Given the description of an element on the screen output the (x, y) to click on. 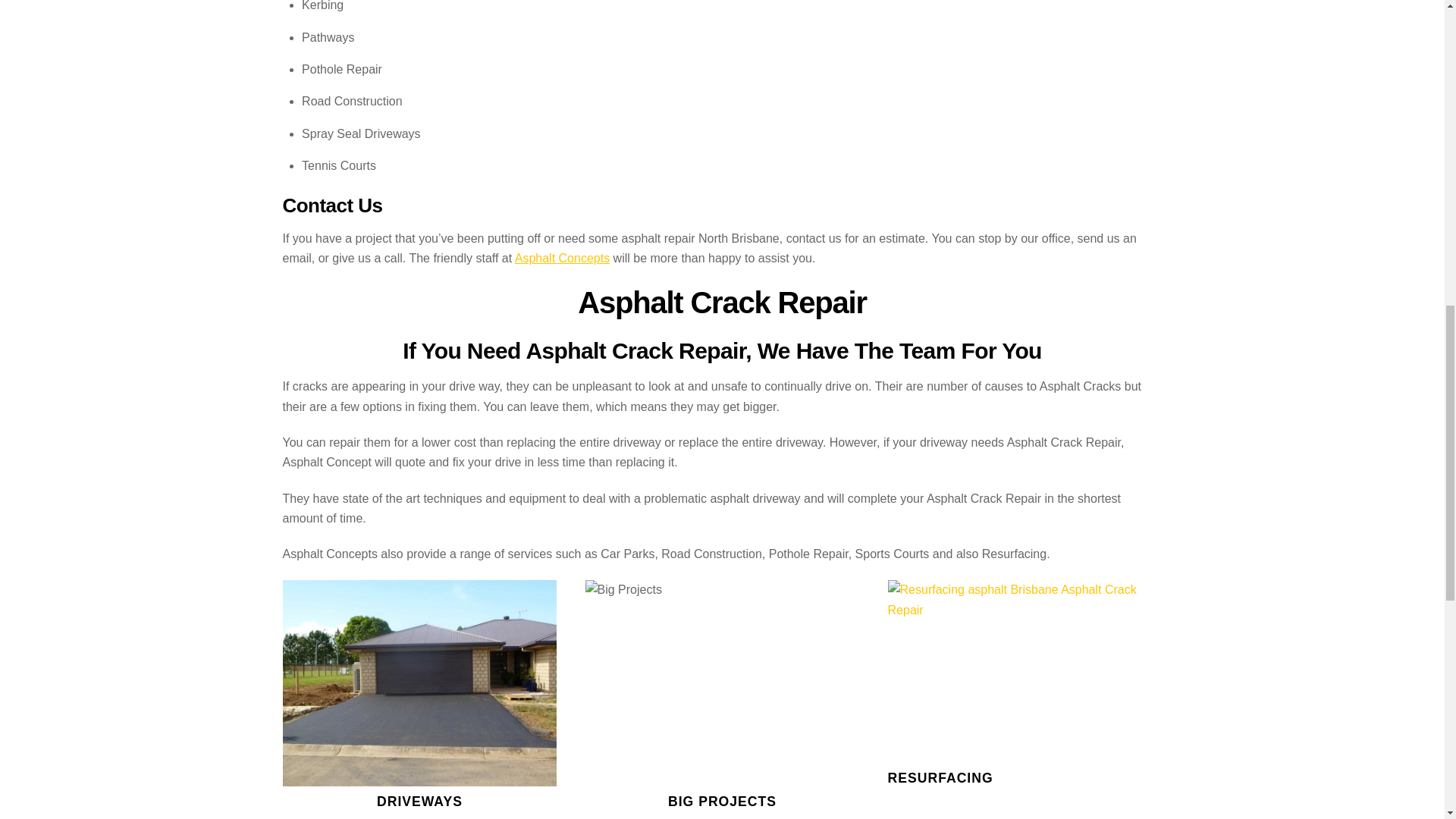
DRIVEWAYS (420, 801)
RESURFACING (940, 777)
Driveways (419, 682)
Asphalt Concepts (562, 257)
Resurfacing (1024, 670)
Big Projects (722, 682)
